Given the description of an element on the screen output the (x, y) to click on. 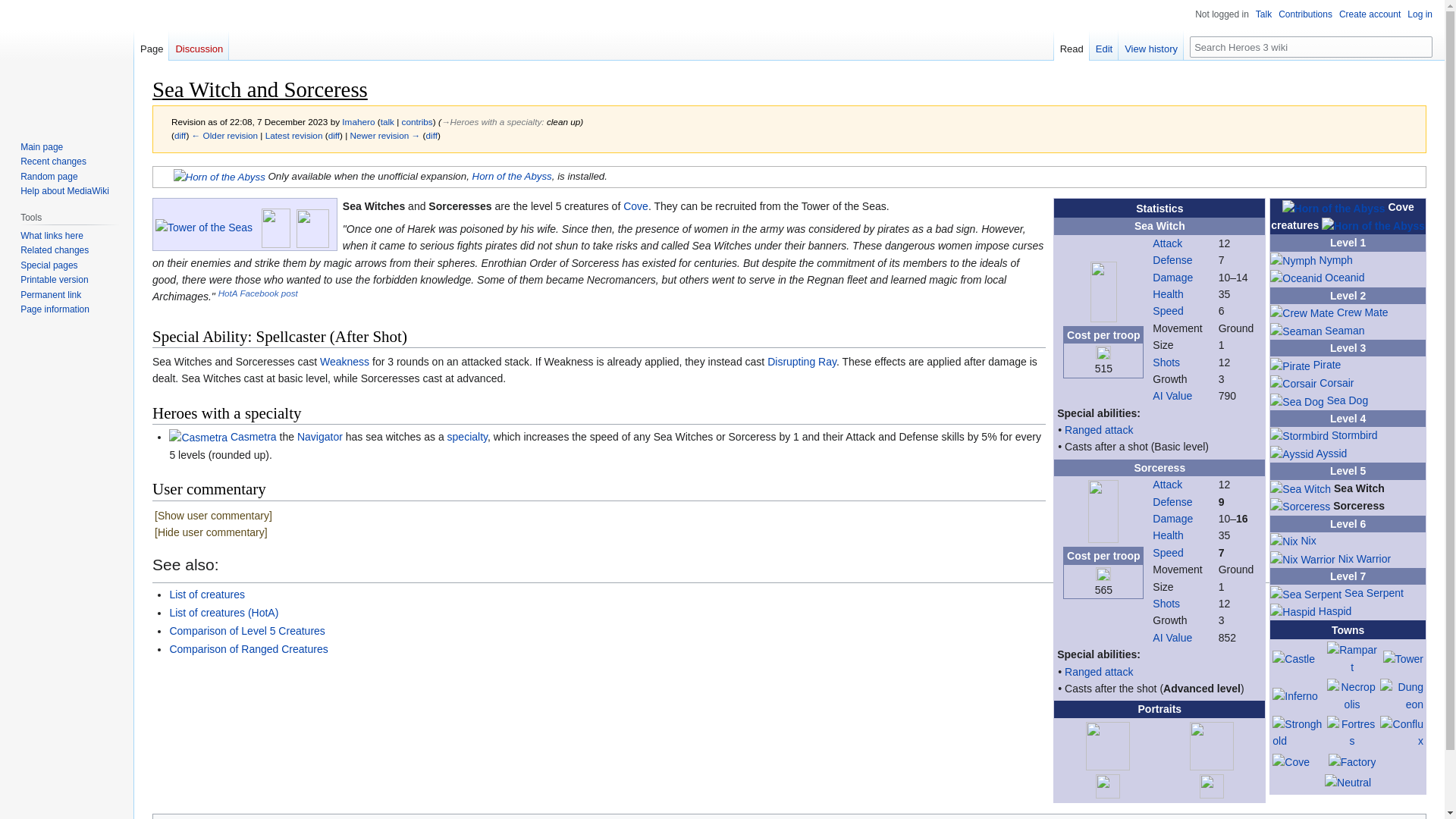
Sorceress (1358, 505)
Search (1420, 46)
Search (1420, 46)
Corsair (1336, 382)
Cove creatures (1342, 215)
Go (1420, 46)
User:Imahero (358, 121)
diff (180, 135)
Stormbird (1354, 435)
talk (387, 121)
